Given the description of an element on the screen output the (x, y) to click on. 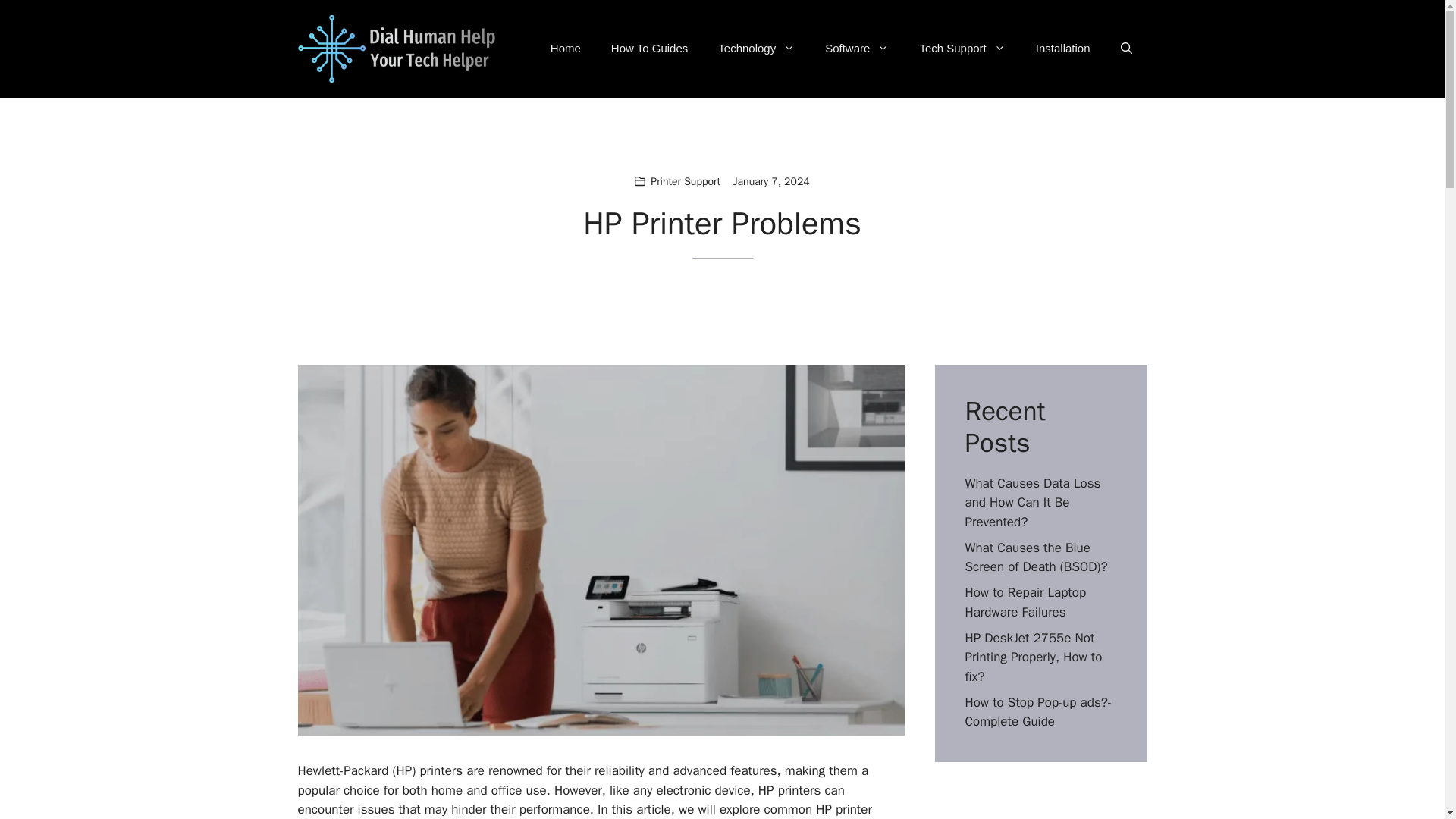
Technology (756, 48)
Software (856, 48)
Home (565, 48)
Tech Support (962, 48)
printer problems (583, 810)
Printer Support (685, 181)
Installation (1062, 48)
How To Guides (649, 48)
